Given the description of an element on the screen output the (x, y) to click on. 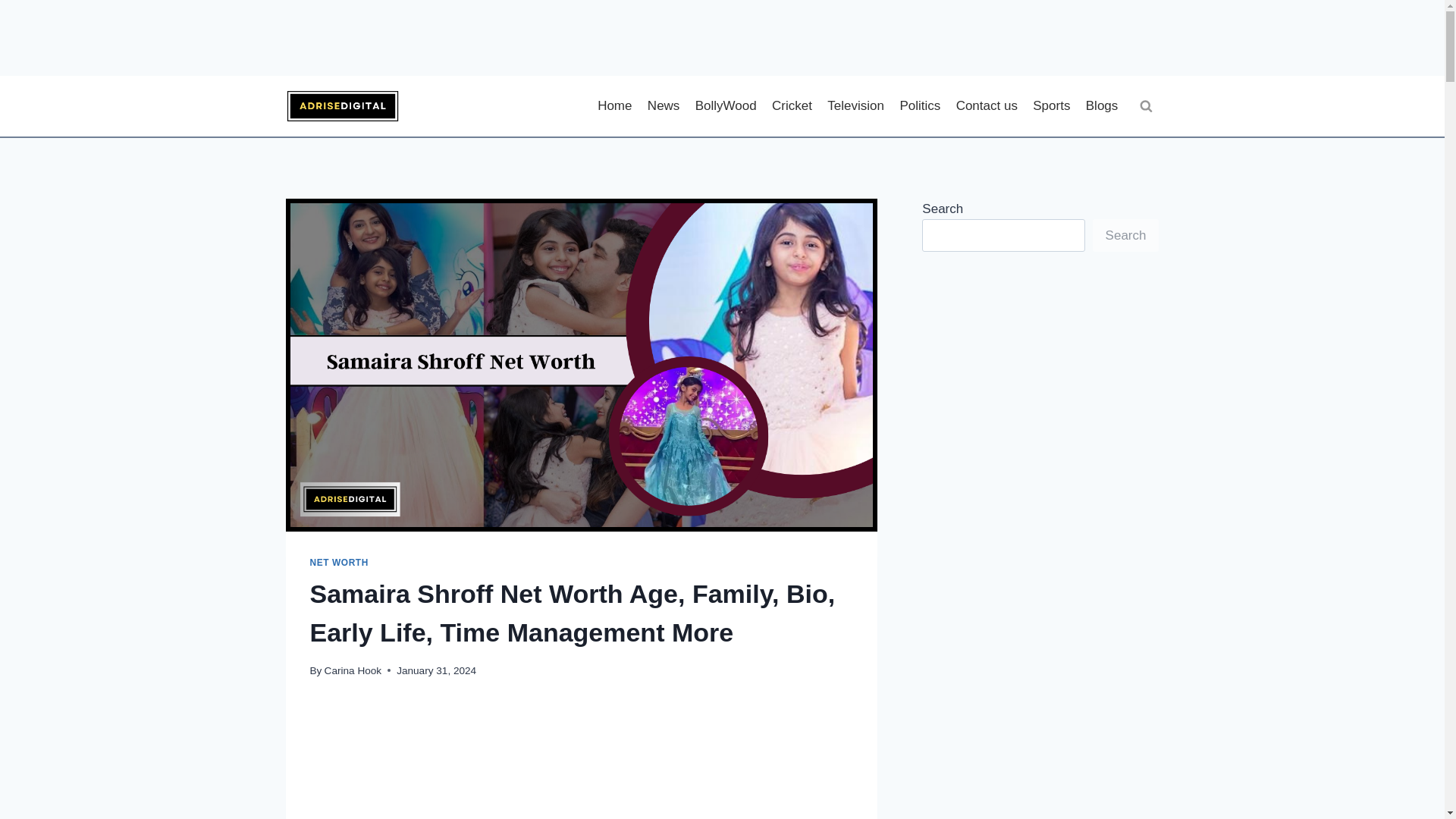
Cricket (791, 105)
Television (855, 105)
Home (614, 105)
BollyWood (725, 105)
Blogs (1101, 105)
Sports (1051, 105)
NET WORTH (338, 562)
Carina Hook (352, 670)
Contact us (986, 105)
News (663, 105)
